Given the description of an element on the screen output the (x, y) to click on. 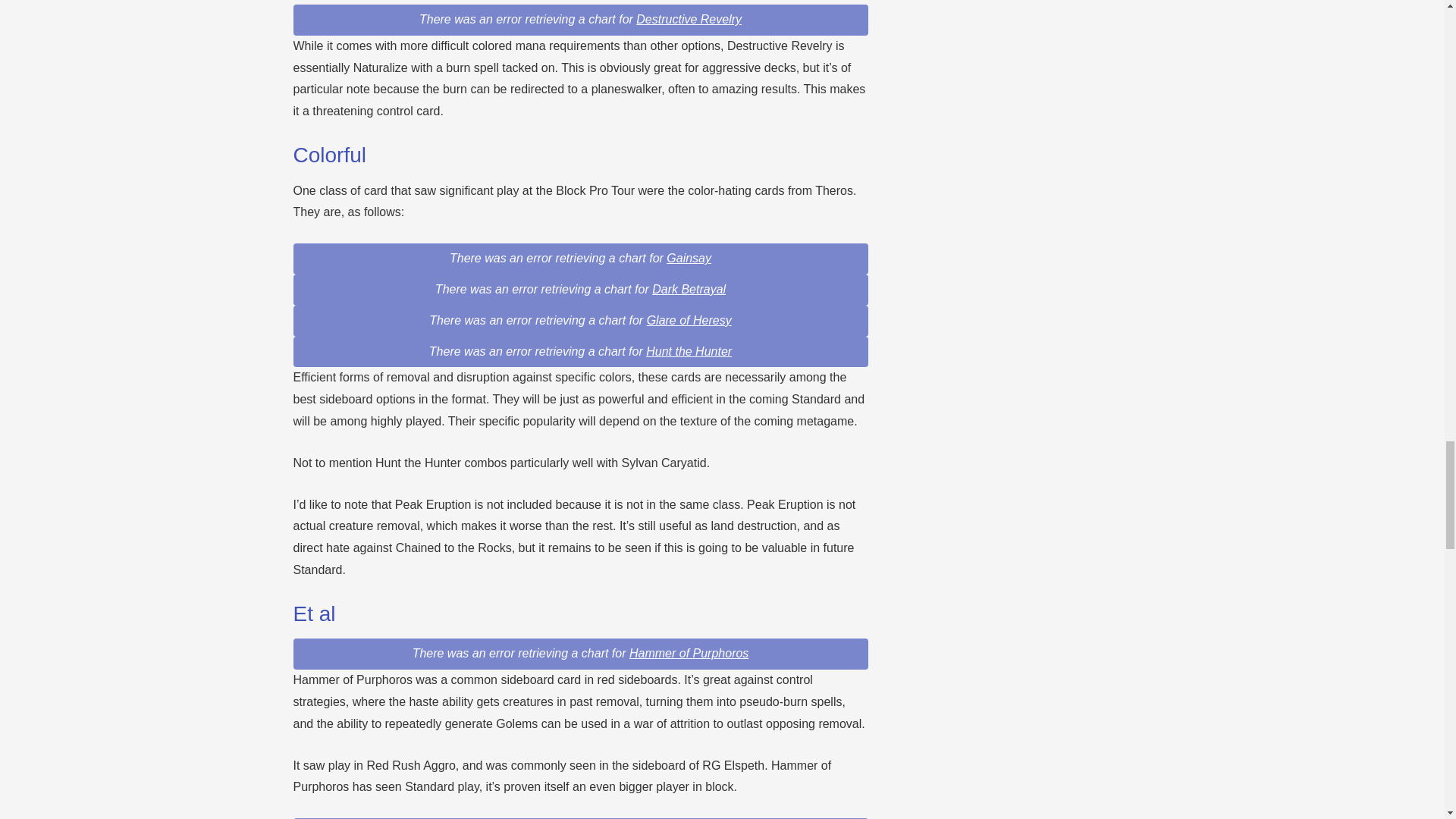
Destructive Revelry (688, 19)
